Given the description of an element on the screen output the (x, y) to click on. 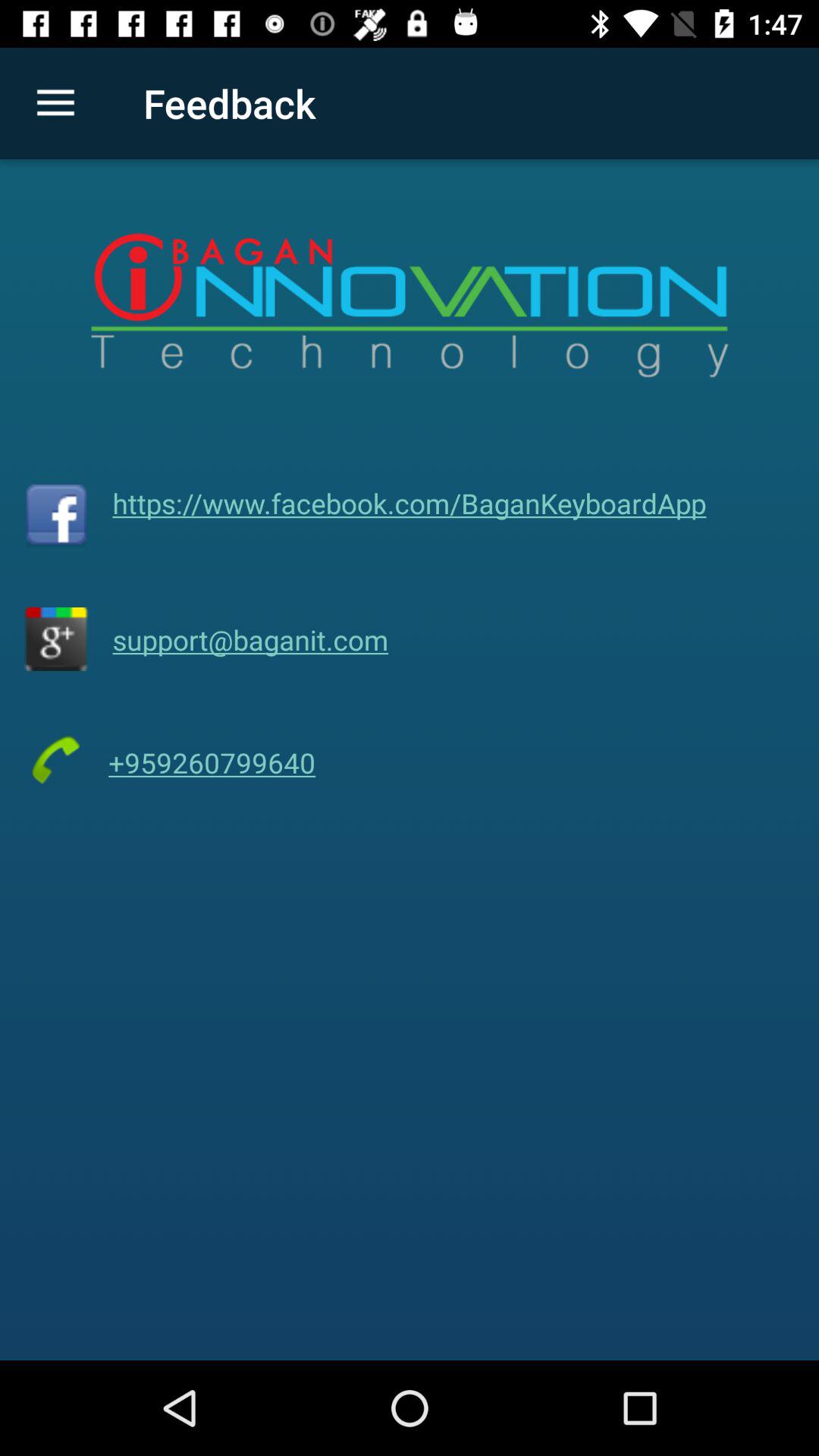
scroll until the support@baganit.com (250, 639)
